Given the description of an element on the screen output the (x, y) to click on. 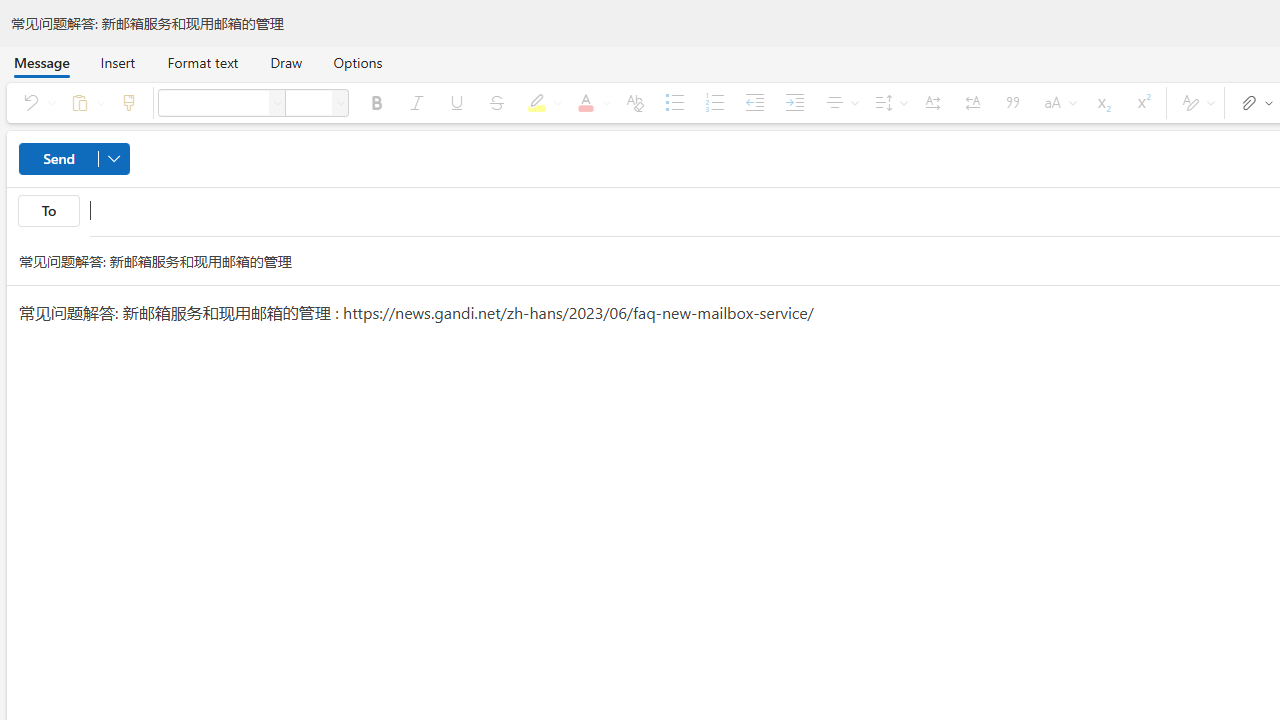
Styles (1195, 102)
To (48, 210)
More send options (114, 158)
Paste (84, 102)
Attach file (1252, 102)
Change case (1056, 102)
Superscript (1142, 102)
Quote (1012, 102)
Font color (589, 102)
Clear formatting (634, 102)
Decrease indent (754, 102)
Undo (35, 102)
Font size (340, 102)
